Given the description of an element on the screen output the (x, y) to click on. 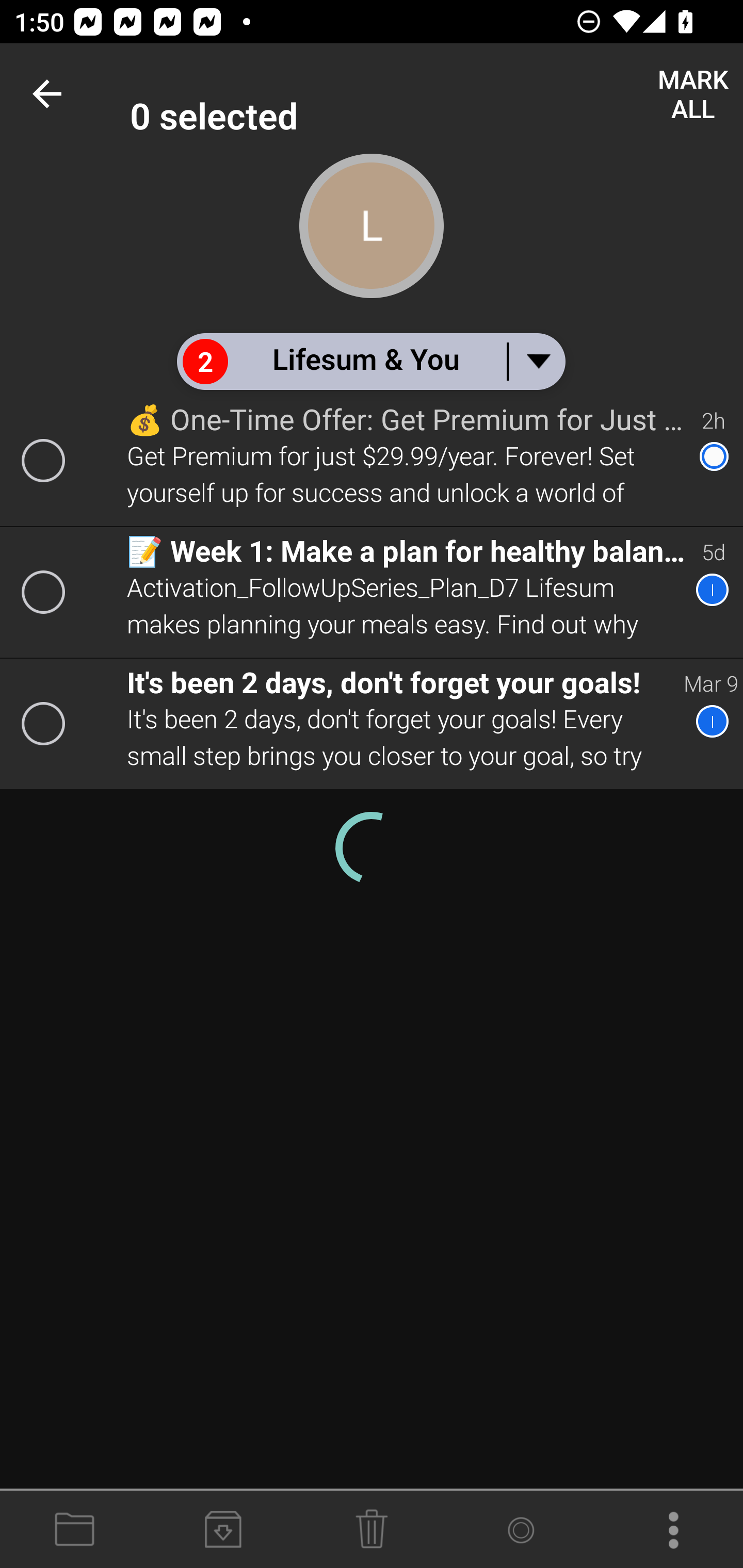
Navigate up (50, 93)
Lifesum lifesum@communication.lifesum.com (436, 93)
MARK
ALL (692, 93)
2 Lifesum & You (370, 361)
Move (74, 1529)
Archive (222, 1529)
Delete (371, 1529)
Mark as Read (520, 1529)
More Options (668, 1529)
